Given the description of an element on the screen output the (x, y) to click on. 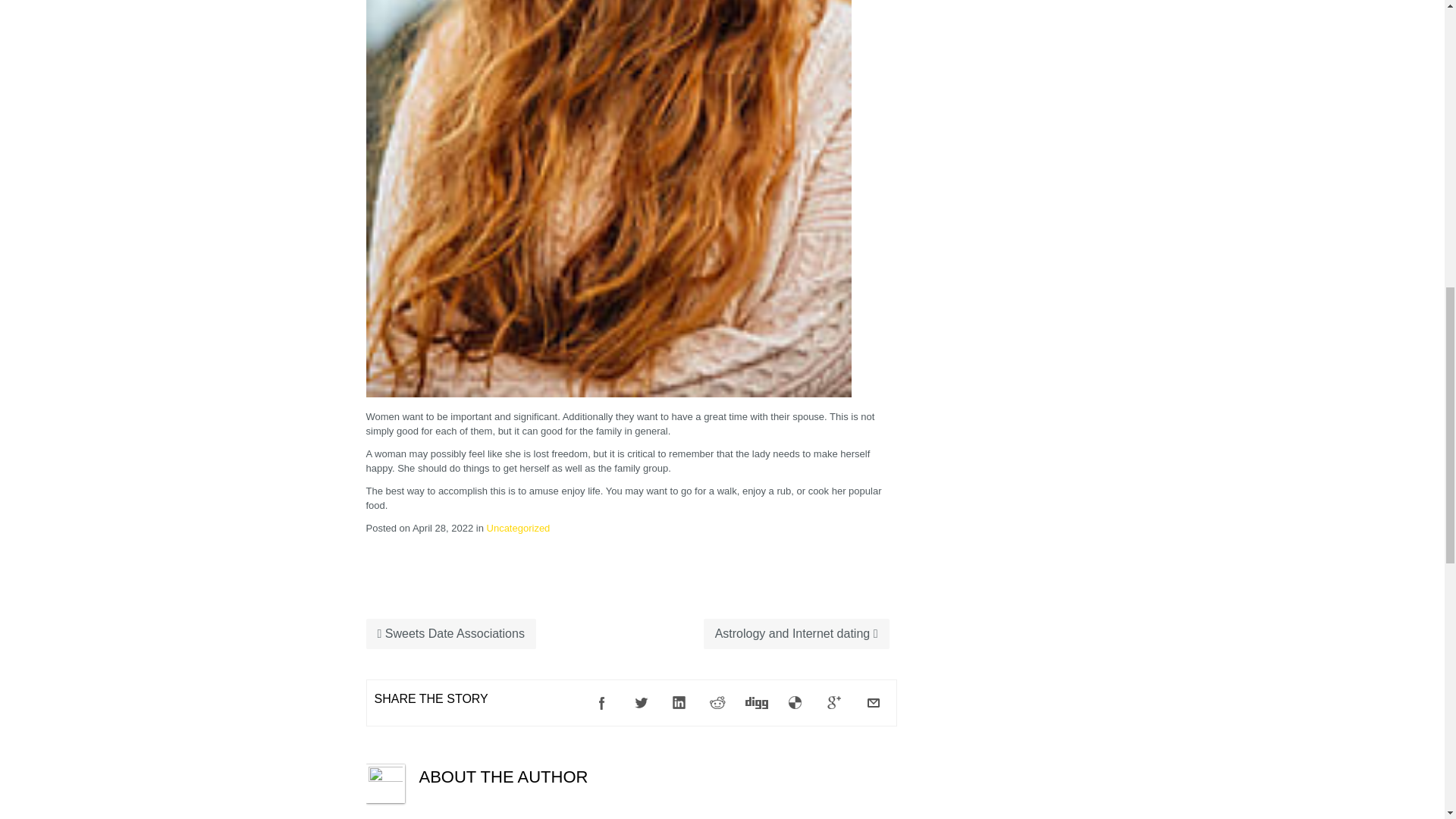
E-Mail (873, 702)
Reddit (718, 702)
Facebook (601, 702)
Sweets Date Associations (450, 634)
Digg (756, 702)
Astrology and Internet dating (796, 634)
Twitter (641, 702)
Delicious (795, 702)
LinkedIn (678, 702)
Uncategorized (518, 527)
